Given the description of an element on the screen output the (x, y) to click on. 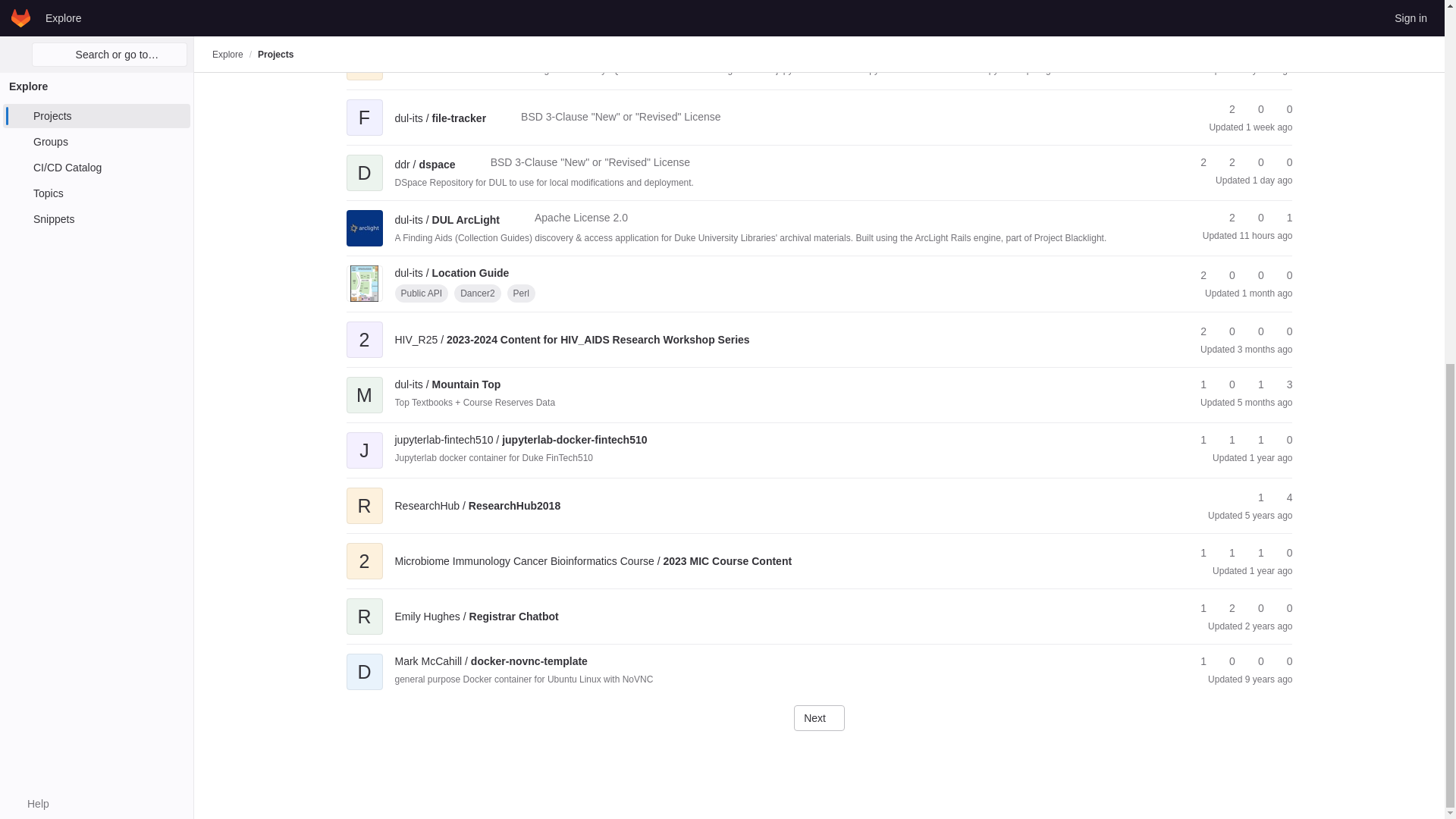
Help (30, 152)
